Given the description of an element on the screen output the (x, y) to click on. 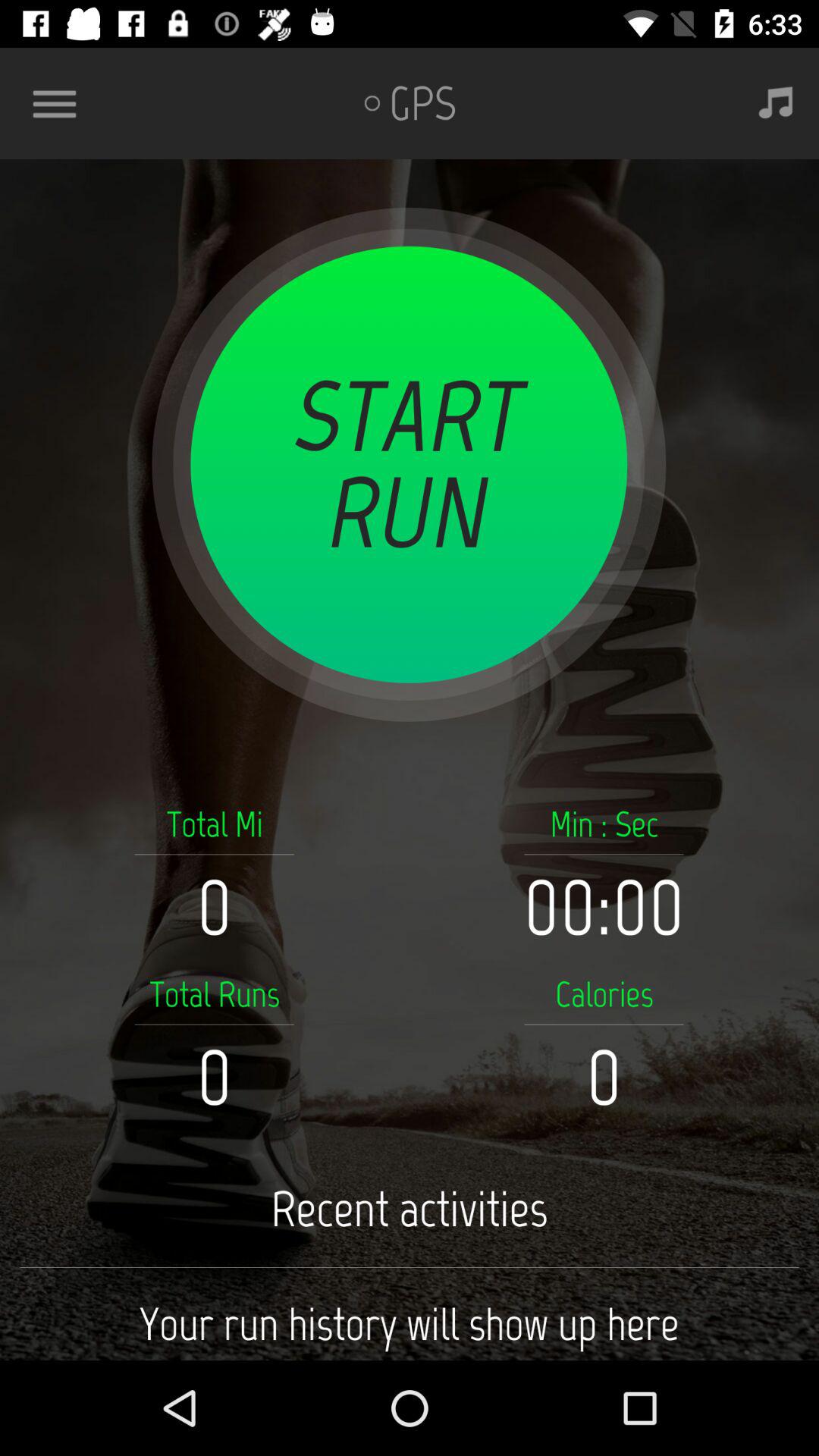
play music (776, 103)
